Given the description of an element on the screen output the (x, y) to click on. 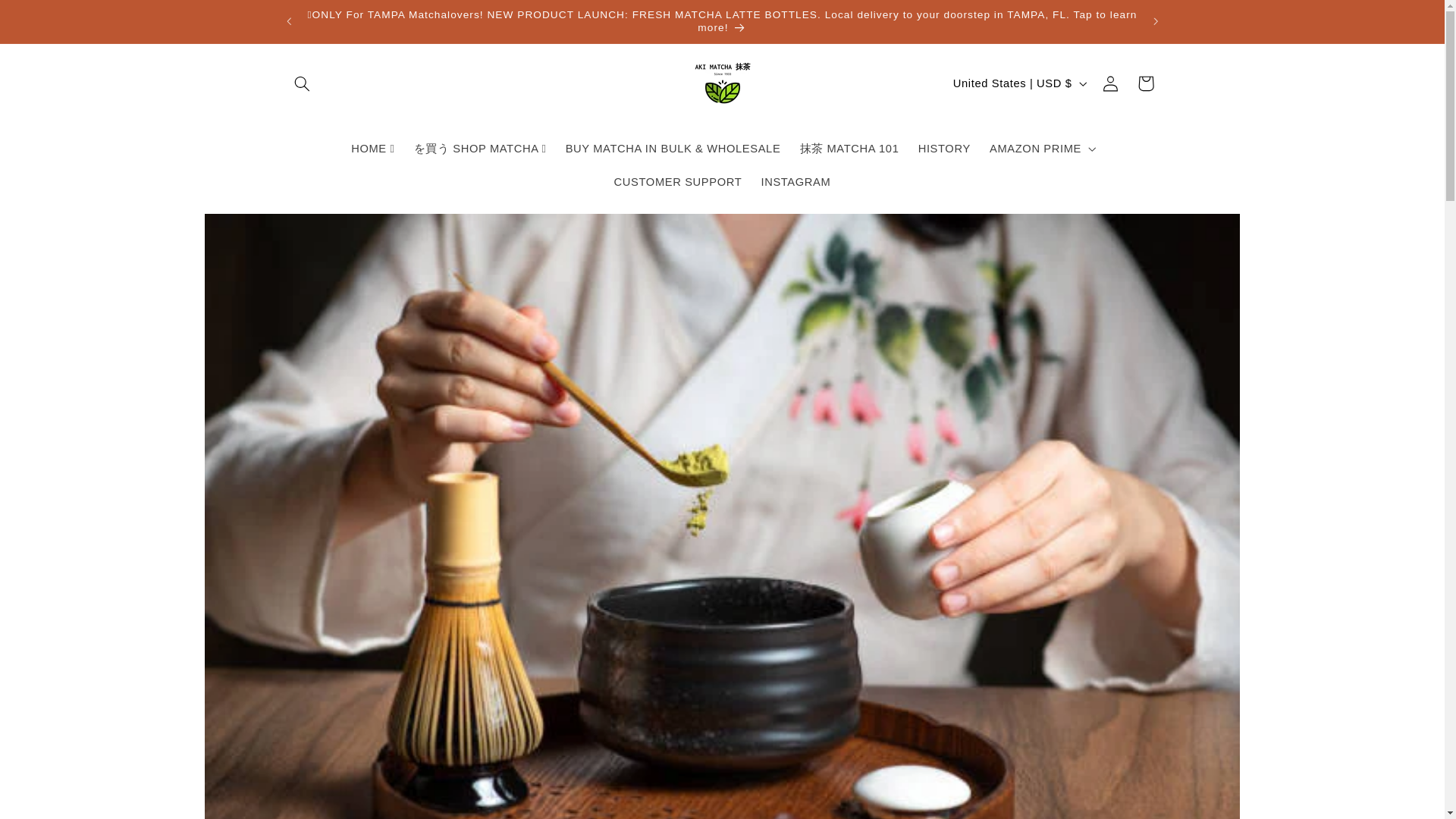
INSTAGRAM (795, 182)
HISTORY (943, 148)
Skip to content (48, 18)
CUSTOMER SUPPORT (677, 182)
